Given the description of an element on the screen output the (x, y) to click on. 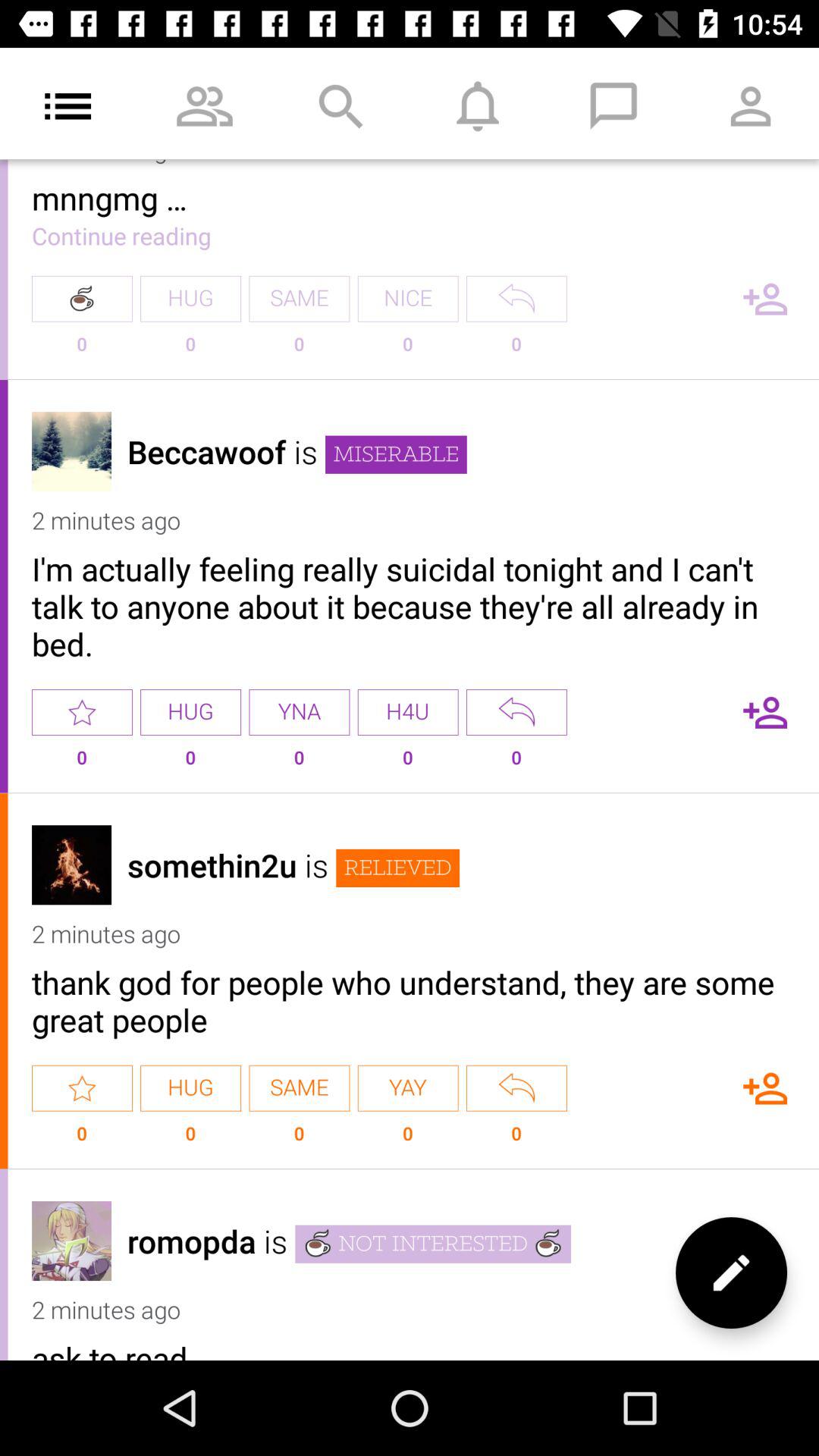
click to read profile (71, 1240)
